Given the description of an element on the screen output the (x, y) to click on. 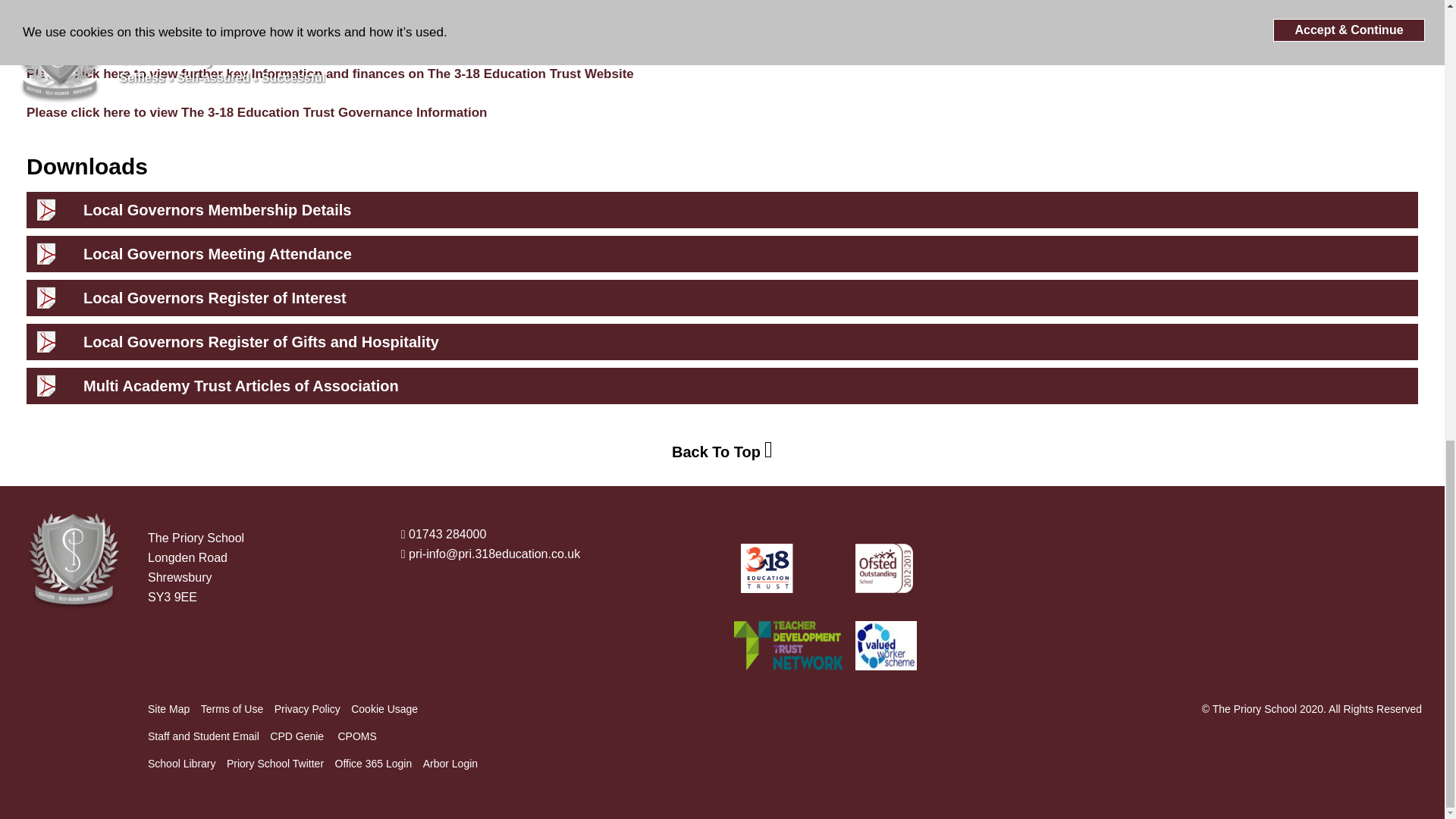
Terms of Use (231, 709)
Cookies (383, 709)
Sitemap (168, 709)
Privacy Policy (307, 709)
CPOMS (356, 736)
School Library Login (181, 763)
